Given the description of an element on the screen output the (x, y) to click on. 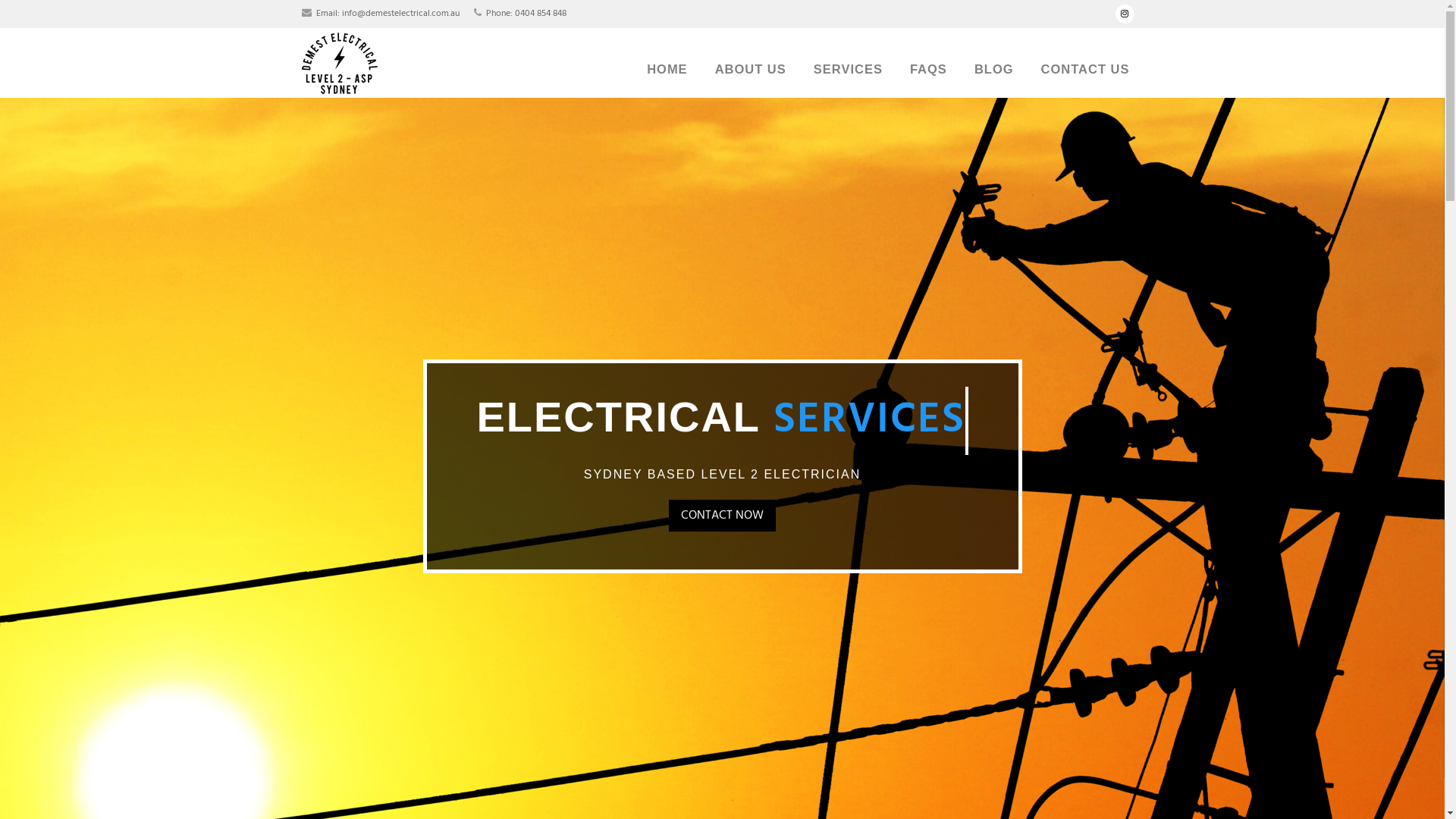
FAQS Element type: text (928, 68)
HOME Element type: text (666, 68)
info@demestelectrical.com.au Element type: text (399, 13)
ABOUT US Element type: text (750, 68)
SERVIC Element type: text (870, 420)
CONTACT NOW Element type: text (721, 515)
SERVICES Element type: text (847, 68)
BLOG Element type: text (993, 68)
CONTACT US Element type: text (1085, 68)
